Given the description of an element on the screen output the (x, y) to click on. 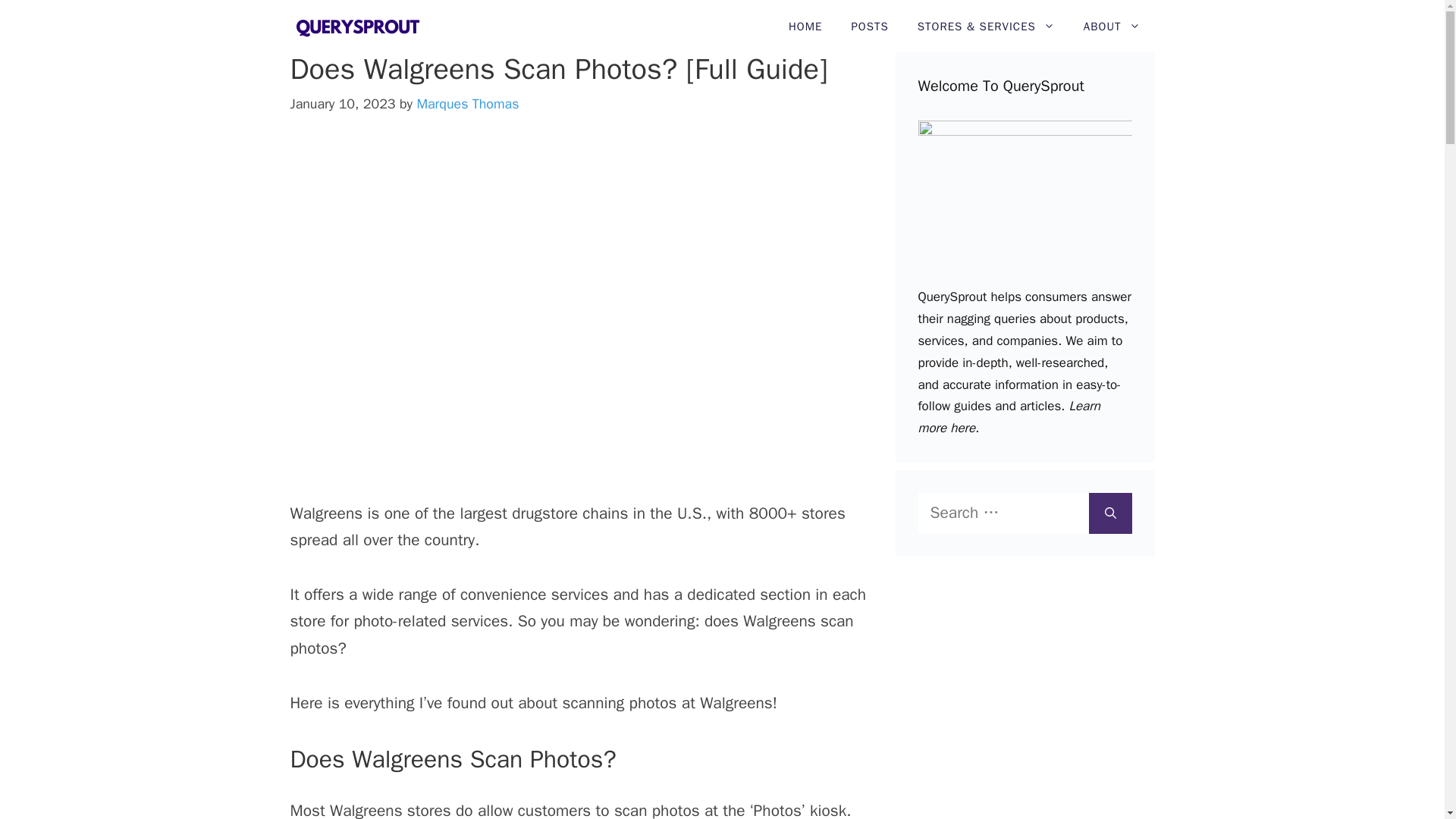
ABOUT (1111, 26)
Search for: (1002, 513)
HOME (804, 26)
Marques Thomas (467, 103)
Learn more here (1008, 416)
View all posts by Marques Thomas (467, 103)
POSTS (868, 26)
